Given the description of an element on the screen output the (x, y) to click on. 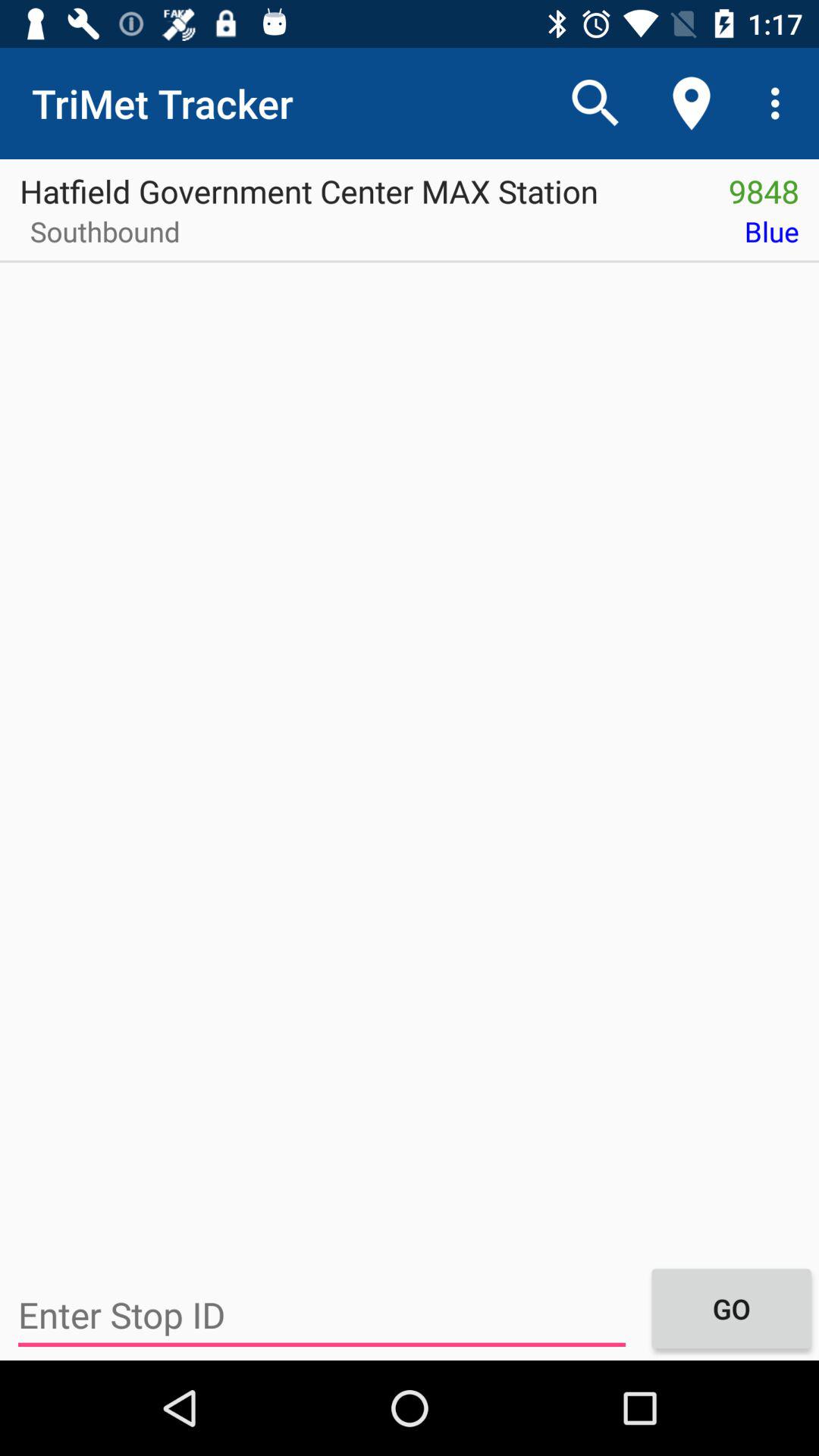
turn off icon to the right of hatfield government center icon (763, 185)
